Given the description of an element on the screen output the (x, y) to click on. 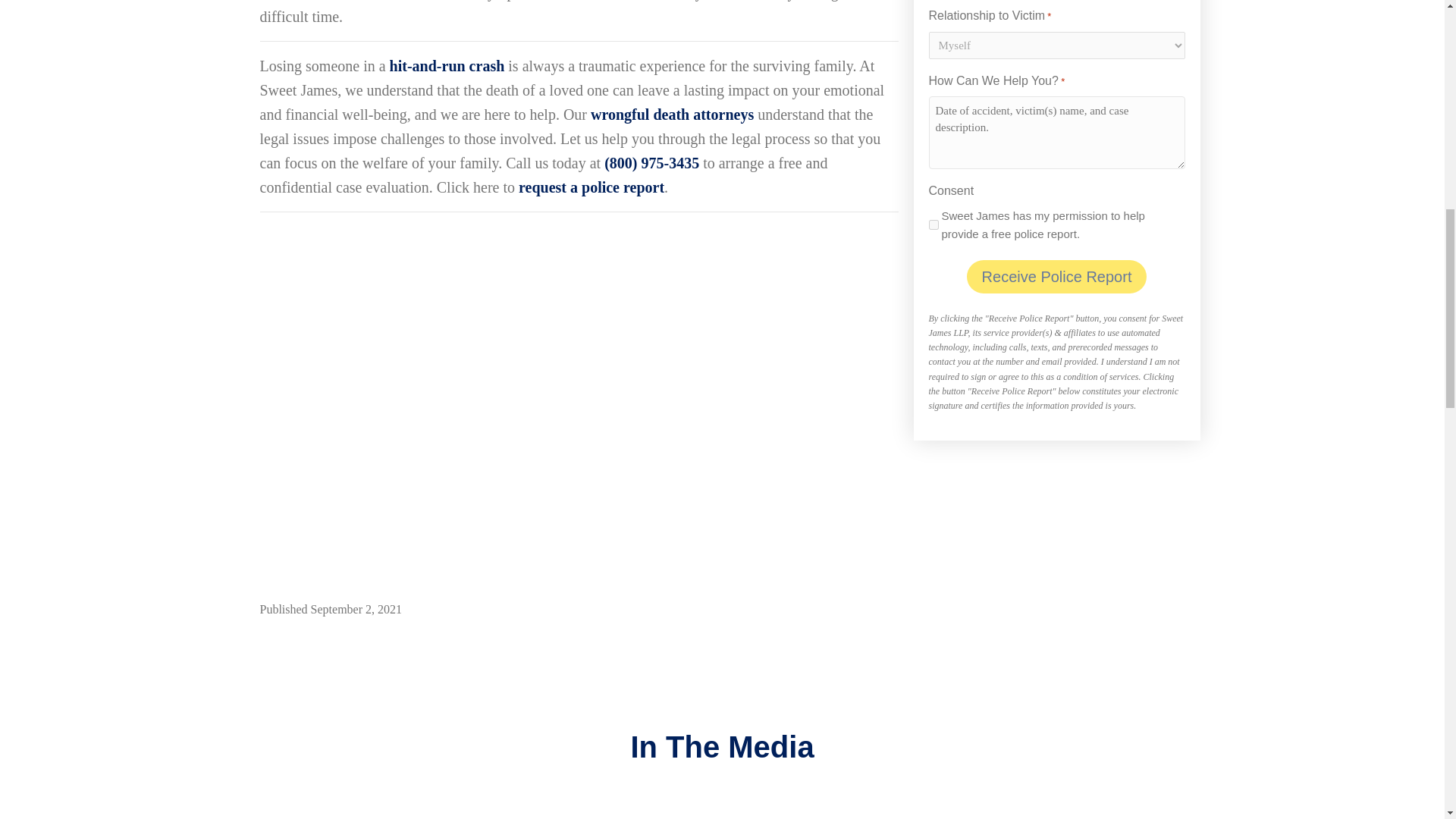
Receive Police Report (1056, 276)
Receive Police Report (1056, 276)
wrongful death attorneys (672, 114)
hit-and-run crash (447, 65)
request a police report (590, 187)
